Given the description of an element on the screen output the (x, y) to click on. 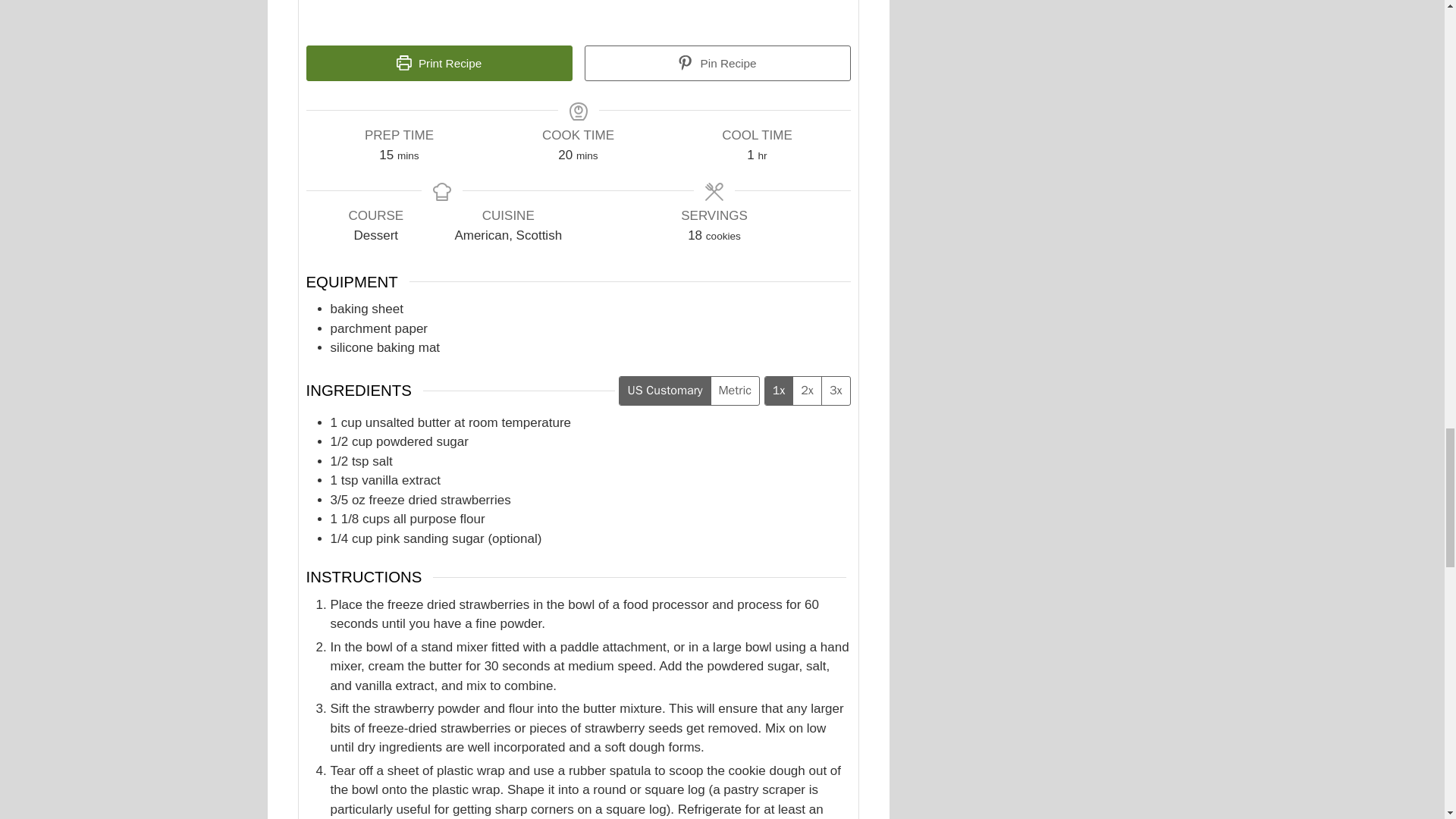
2x (806, 390)
3x (835, 390)
Metric (734, 390)
1x (779, 390)
US Customary (665, 390)
Pin Recipe (716, 63)
Print Recipe (438, 63)
